Given the description of an element on the screen output the (x, y) to click on. 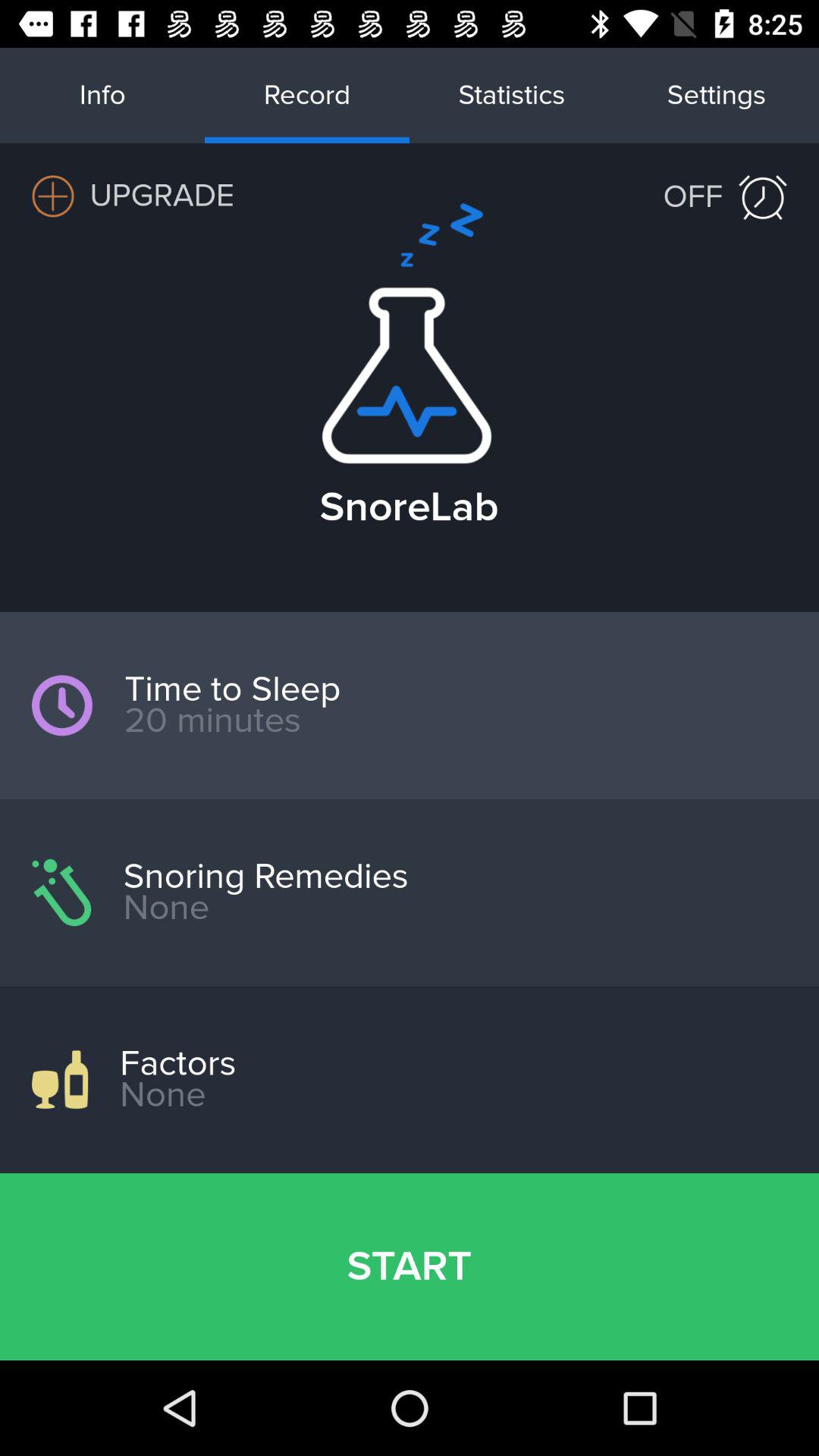
click on the button beside statistics (716, 95)
click on record on the top of the web page (306, 95)
